Given the description of an element on the screen output the (x, y) to click on. 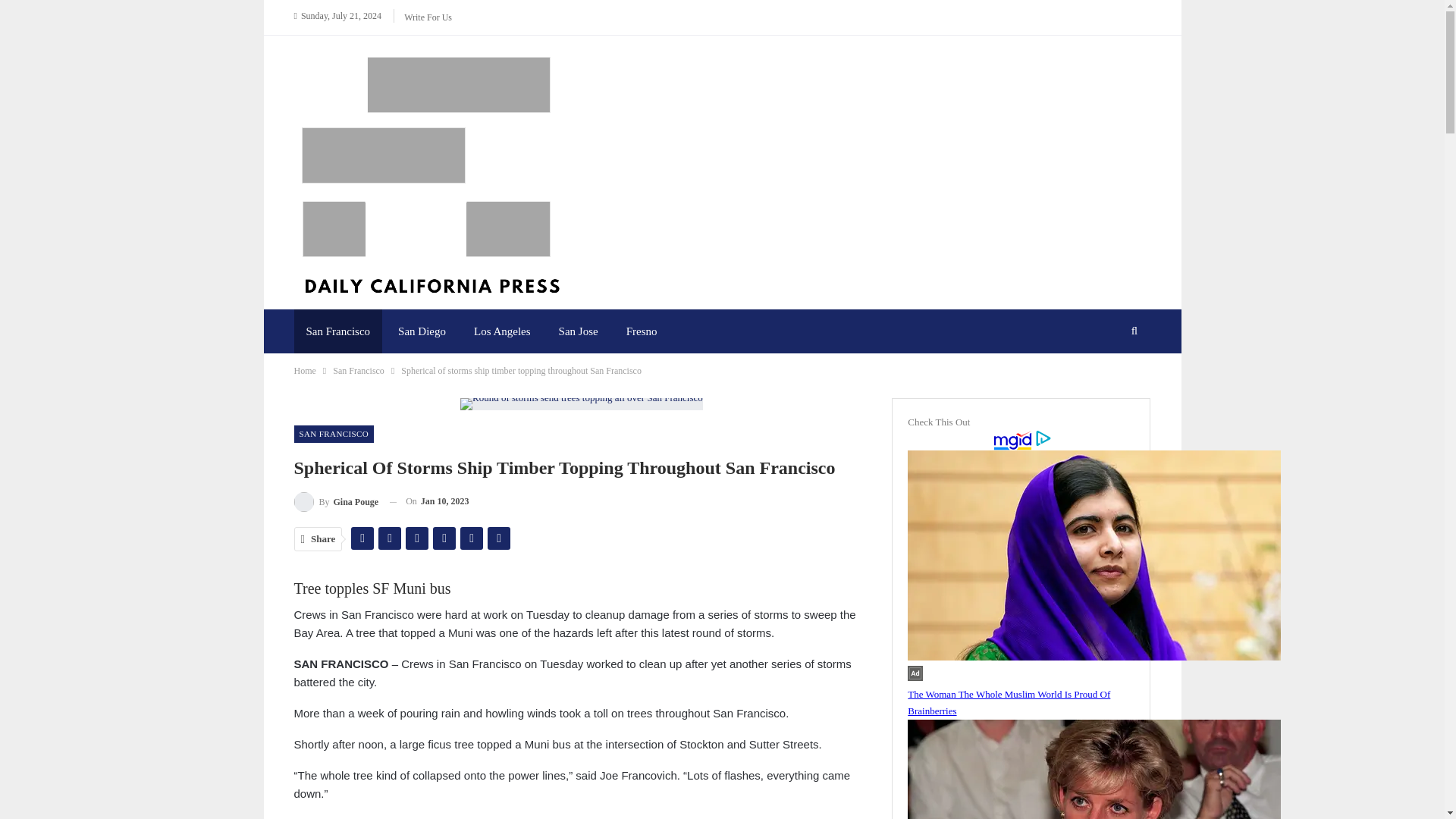
San Francisco (338, 330)
San Diego (421, 330)
San Jose (578, 330)
Los Angeles (502, 330)
Home (304, 370)
Browse Author Articles (336, 501)
Fresno (641, 330)
SAN FRANCISCO (334, 434)
By Gina Pouge (336, 501)
San Francisco (358, 370)
Write For Us (427, 17)
